Given the description of an element on the screen output the (x, y) to click on. 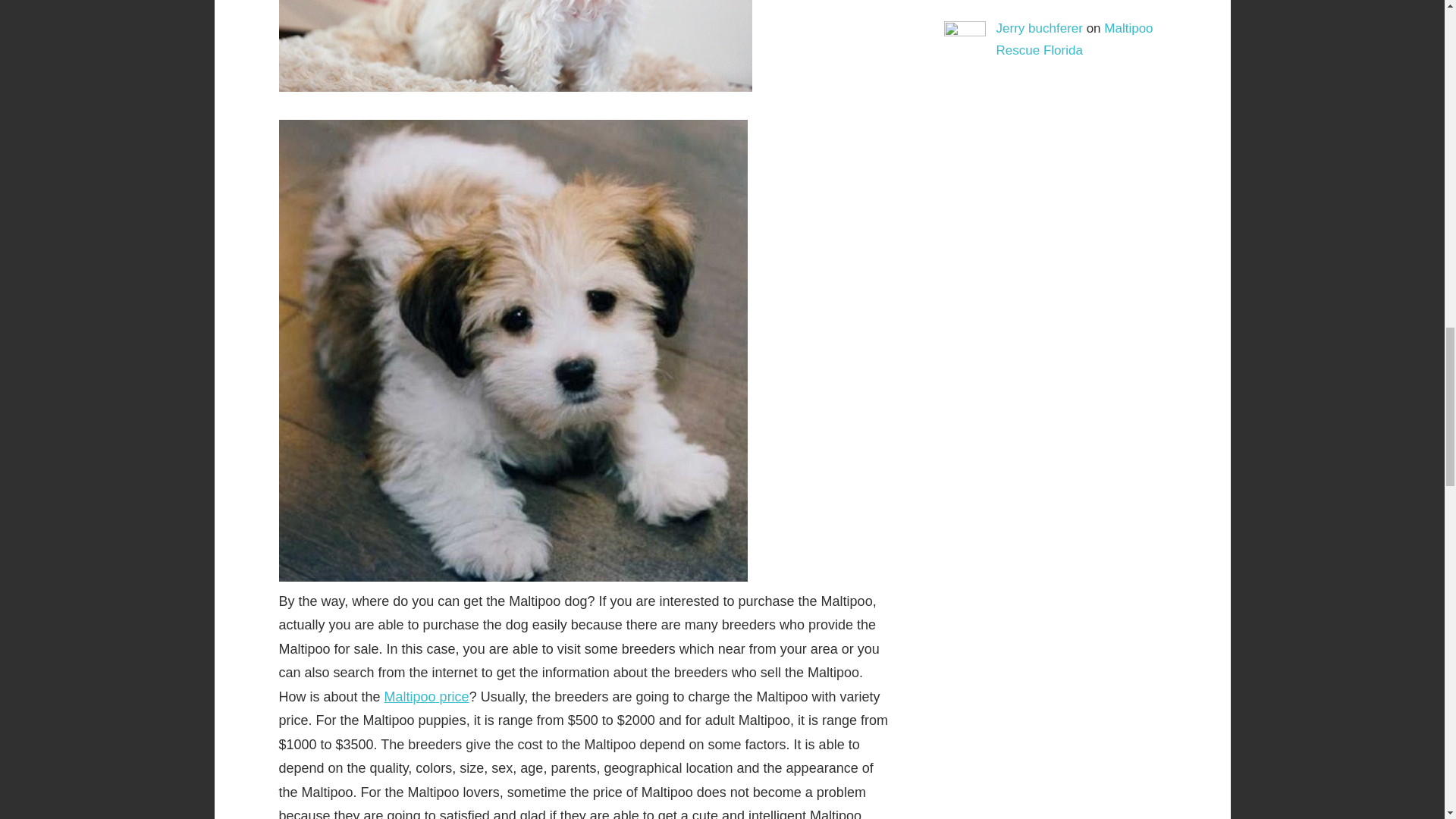
Maltipoo Lifespan (515, 45)
Maltipoo price (426, 696)
